Given the description of an element on the screen output the (x, y) to click on. 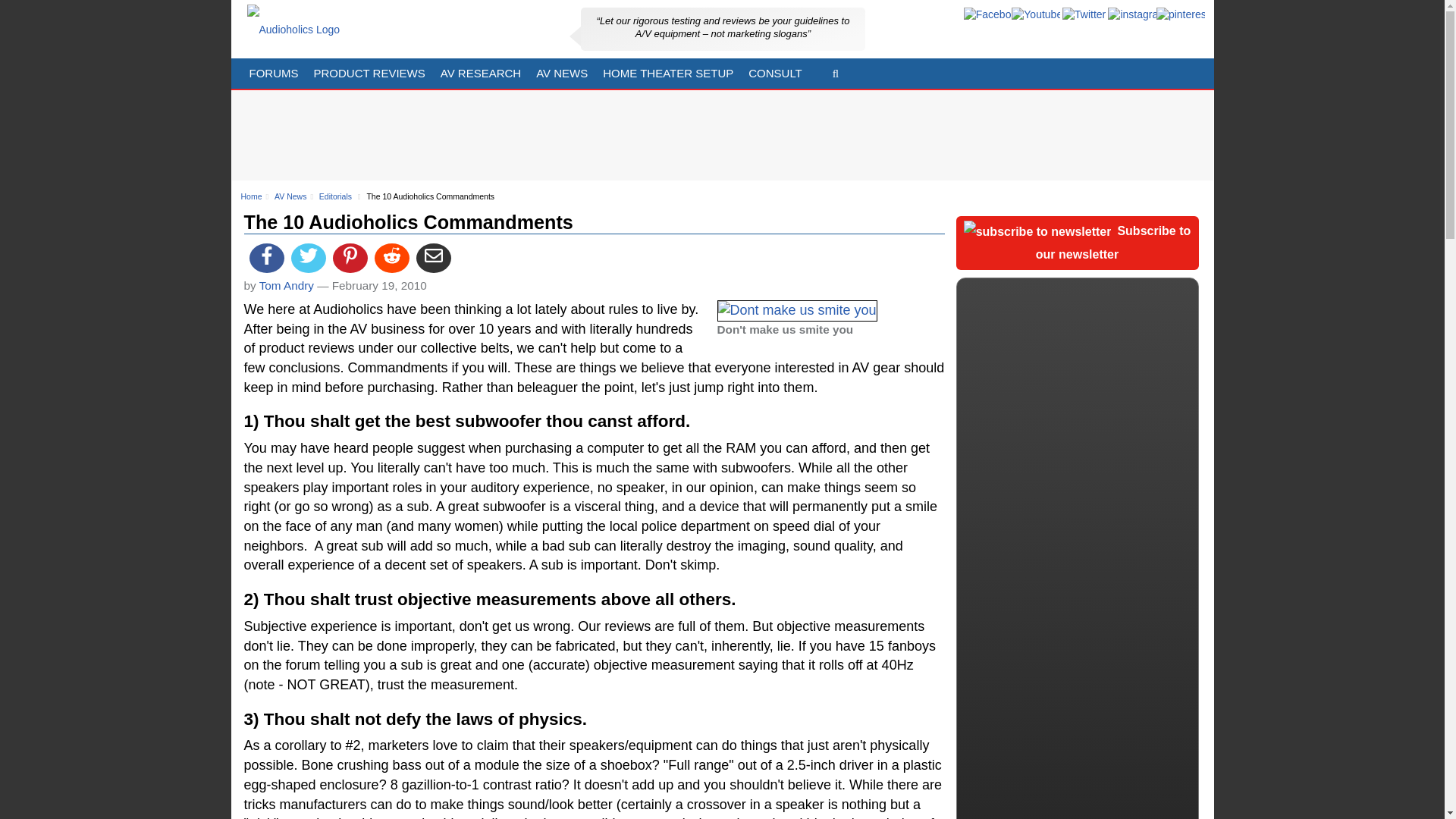
share on twitter (308, 257)
share on pinterest (350, 257)
AV RESEARCH (480, 73)
Audioholics Youtube (1035, 14)
PRODUCT REVIEWS (368, 73)
Audioholics Facebook (987, 14)
Dont make us smite you (797, 310)
share on reddit (391, 257)
share on facebook (265, 257)
instagram (1132, 14)
pinterest (1180, 14)
Twitter (1083, 14)
FORUMS (273, 73)
email (433, 257)
